Given the description of an element on the screen output the (x, y) to click on. 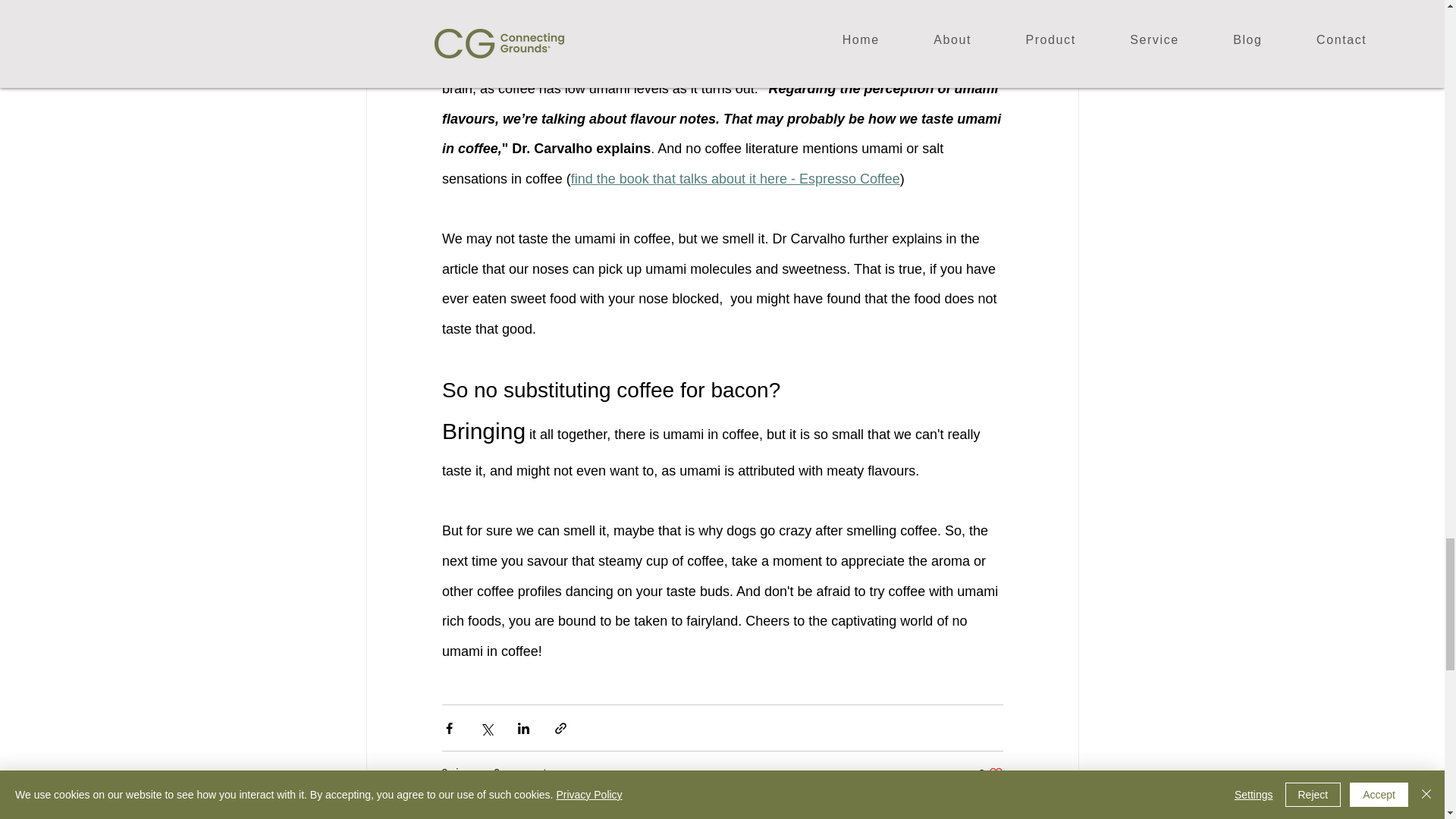
perfect daily grind (990, 772)
find the book that talks about it here - Espresso Coffee (657, 22)
